Given the description of an element on the screen output the (x, y) to click on. 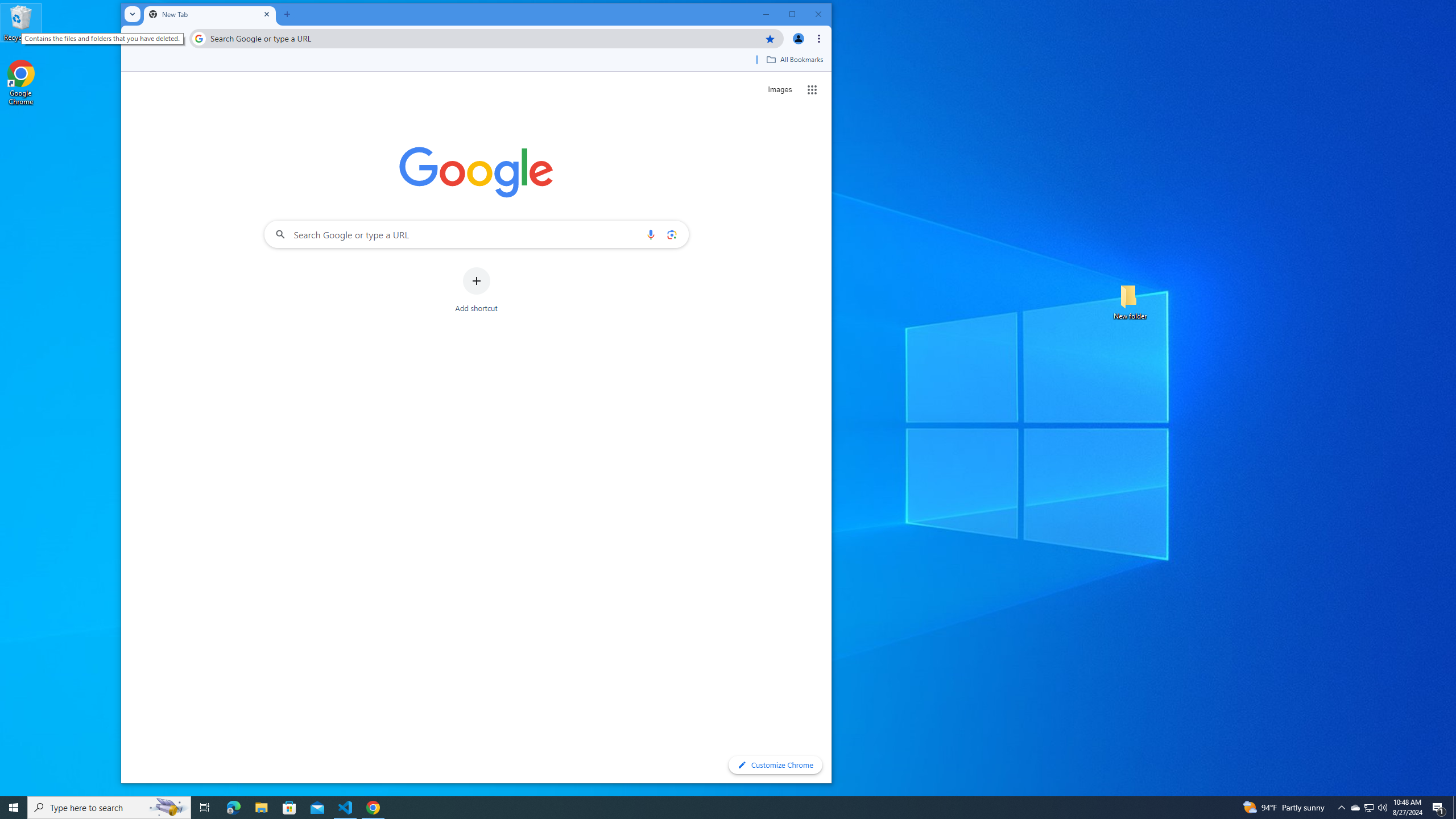
Recycle Bin (21, 22)
New folder (1130, 301)
Google Chrome (21, 82)
